Given the description of an element on the screen output the (x, y) to click on. 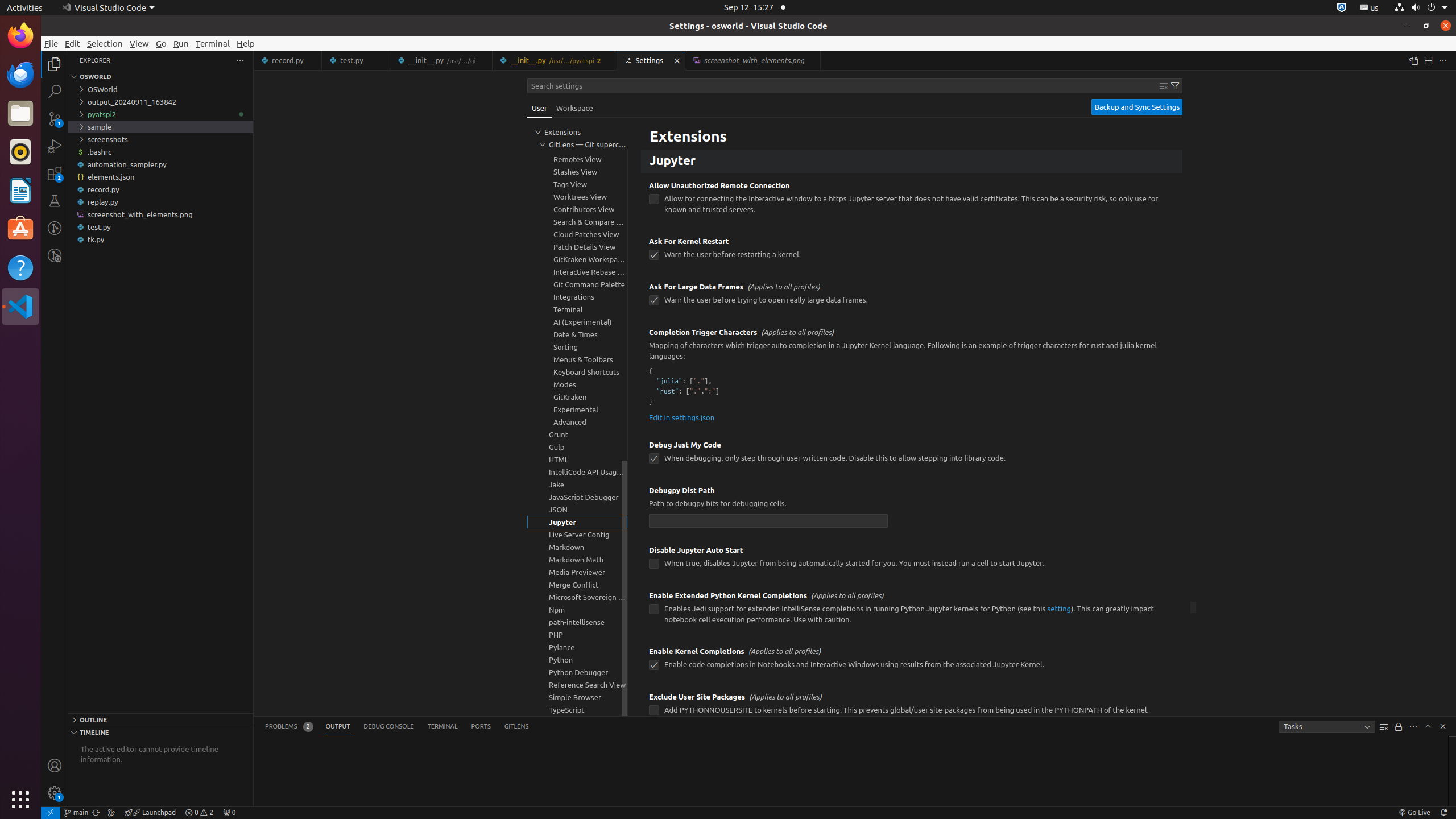
TypeScript, group Element type: tree-item (577, 709)
File Element type: push-button (50, 43)
Search & Compare View, group Element type: tree-item (577, 221)
Worktrees View, group Element type: tree-item (577, 196)
 Debugpy Dist Path. Path to debugpy bits for debugging cells.  Element type: tree-item (911, 508)
